Given the description of an element on the screen output the (x, y) to click on. 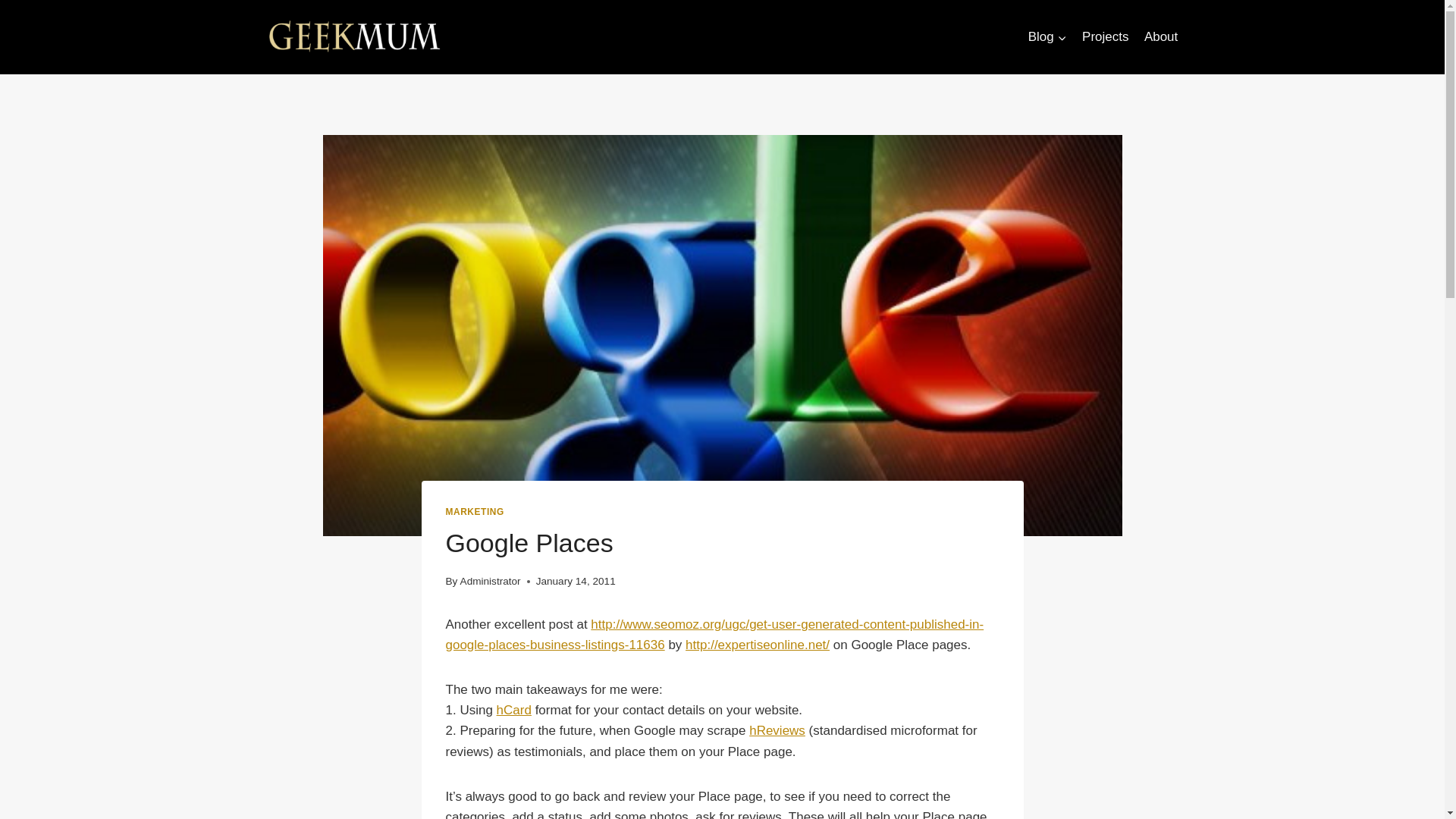
Administrator (490, 581)
About (1161, 36)
Projects (1105, 36)
hReviews (777, 730)
hCard (513, 709)
Blog (1047, 36)
MARKETING (474, 511)
